Given the description of an element on the screen output the (x, y) to click on. 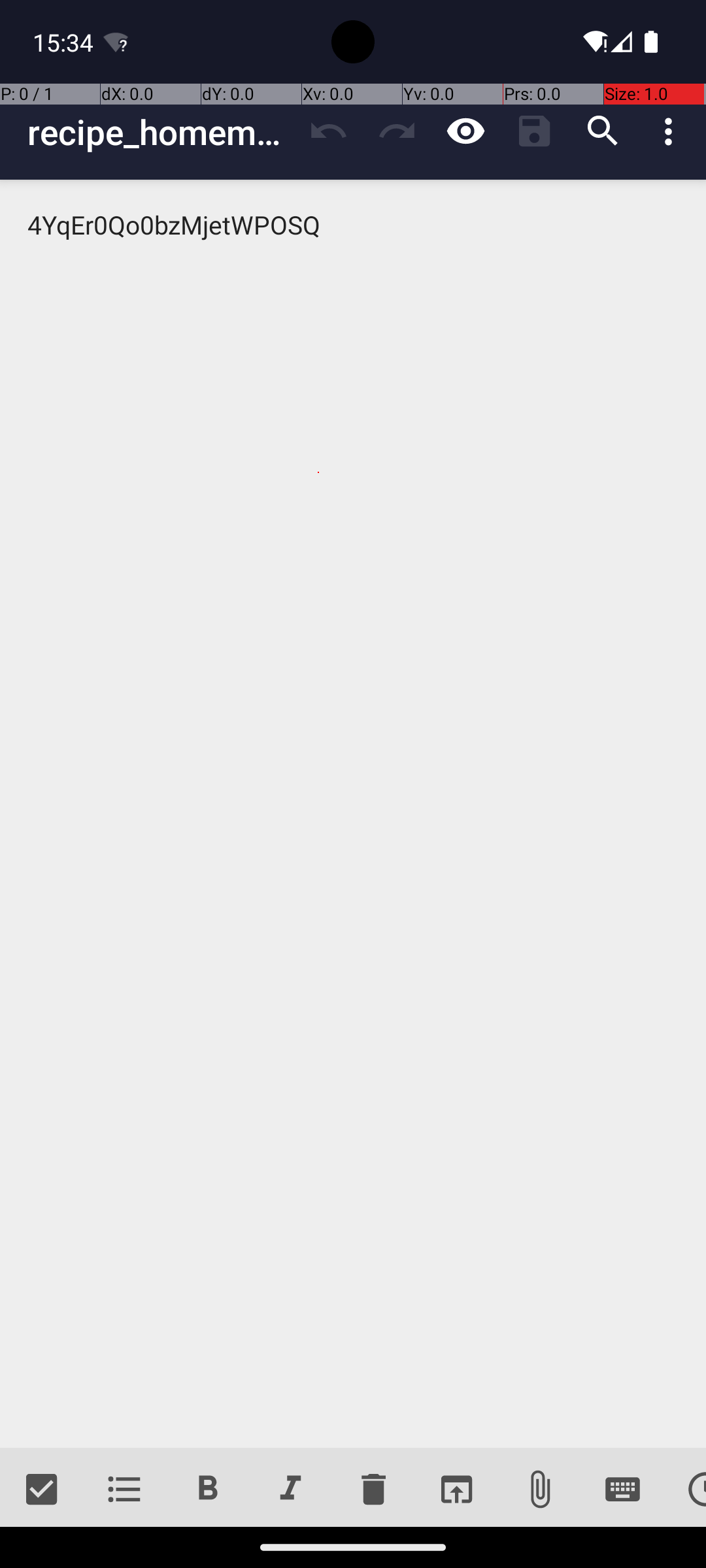
recipe_homemade_pizza_2023_10_06 Element type: android.widget.TextView (160, 131)
4YqEr0Qo0bzMjetWPOSQ
 Element type: android.widget.EditText (353, 813)
